Given the description of an element on the screen output the (x, y) to click on. 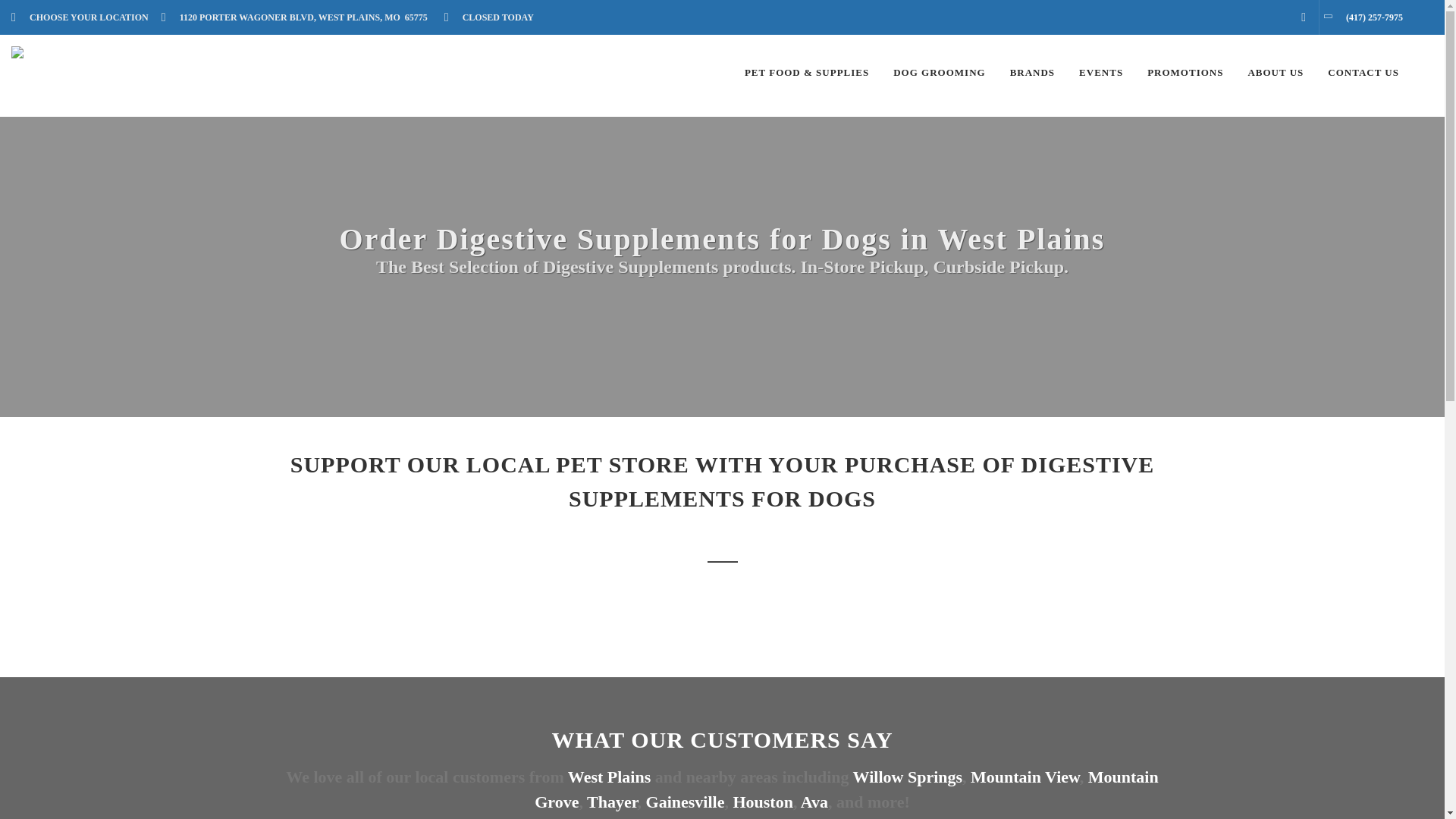
FACEBOOK (1303, 17)
Willow Springs (907, 776)
West Plains (608, 776)
PROMOTIONS (1184, 72)
Mountain Grove (845, 789)
Gainesville (685, 801)
BRANDS (1031, 72)
Get Directions From West Plains (608, 776)
Thayer (611, 801)
DOG GROOMING (938, 72)
EVENTS (1100, 72)
Mountain View (1025, 776)
1120 PORTER WAGONER BLVD, WEST PLAINS, MO  65775 (299, 16)
ABOUT US (1275, 72)
CONTACT US (1363, 72)
